Given the description of an element on the screen output the (x, y) to click on. 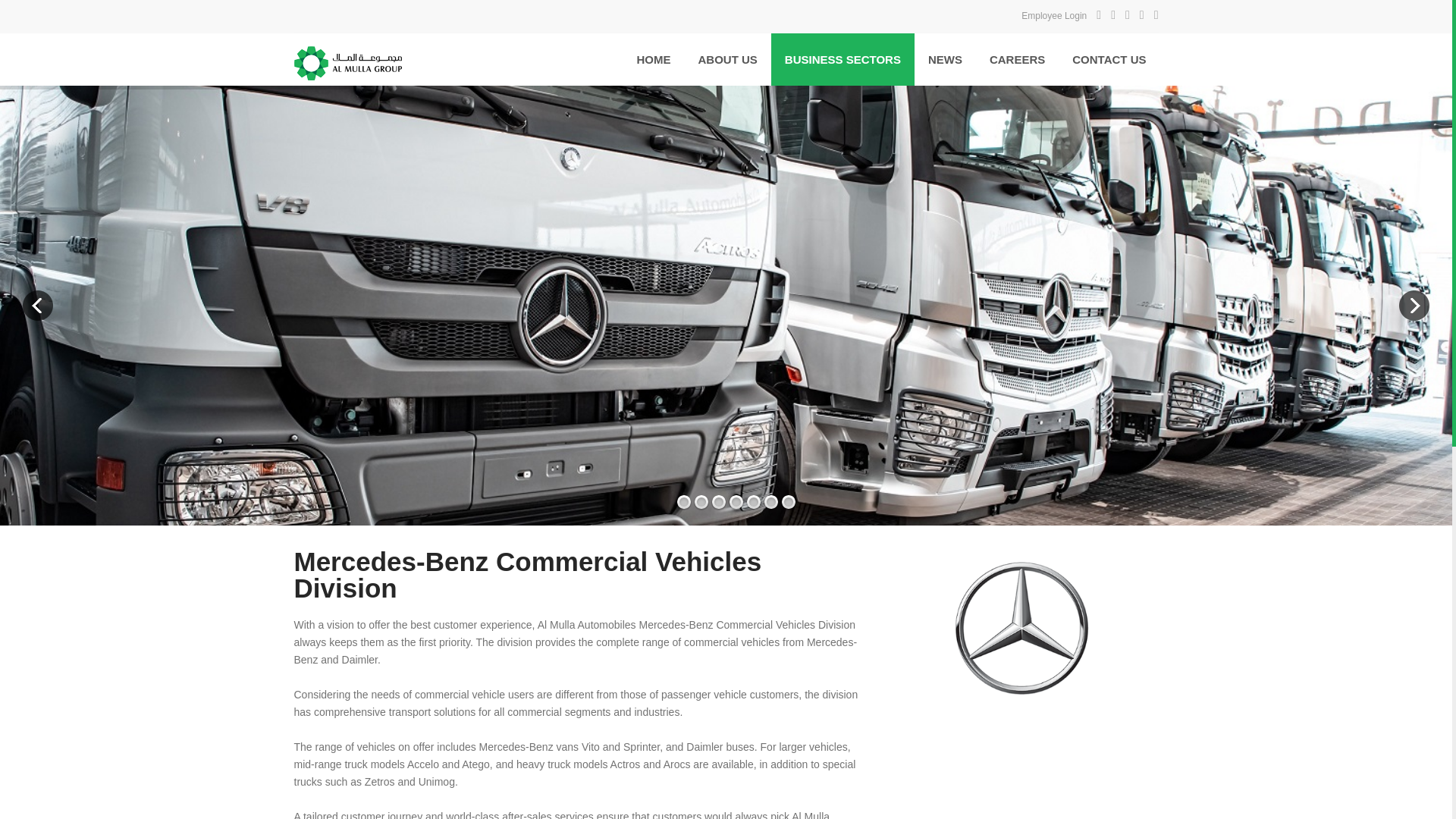
Al Mulla Group (402, 59)
ABOUT US (727, 59)
Employee Login (1054, 15)
BUSINESS SECTORS (842, 59)
HOME (653, 59)
